Given the description of an element on the screen output the (x, y) to click on. 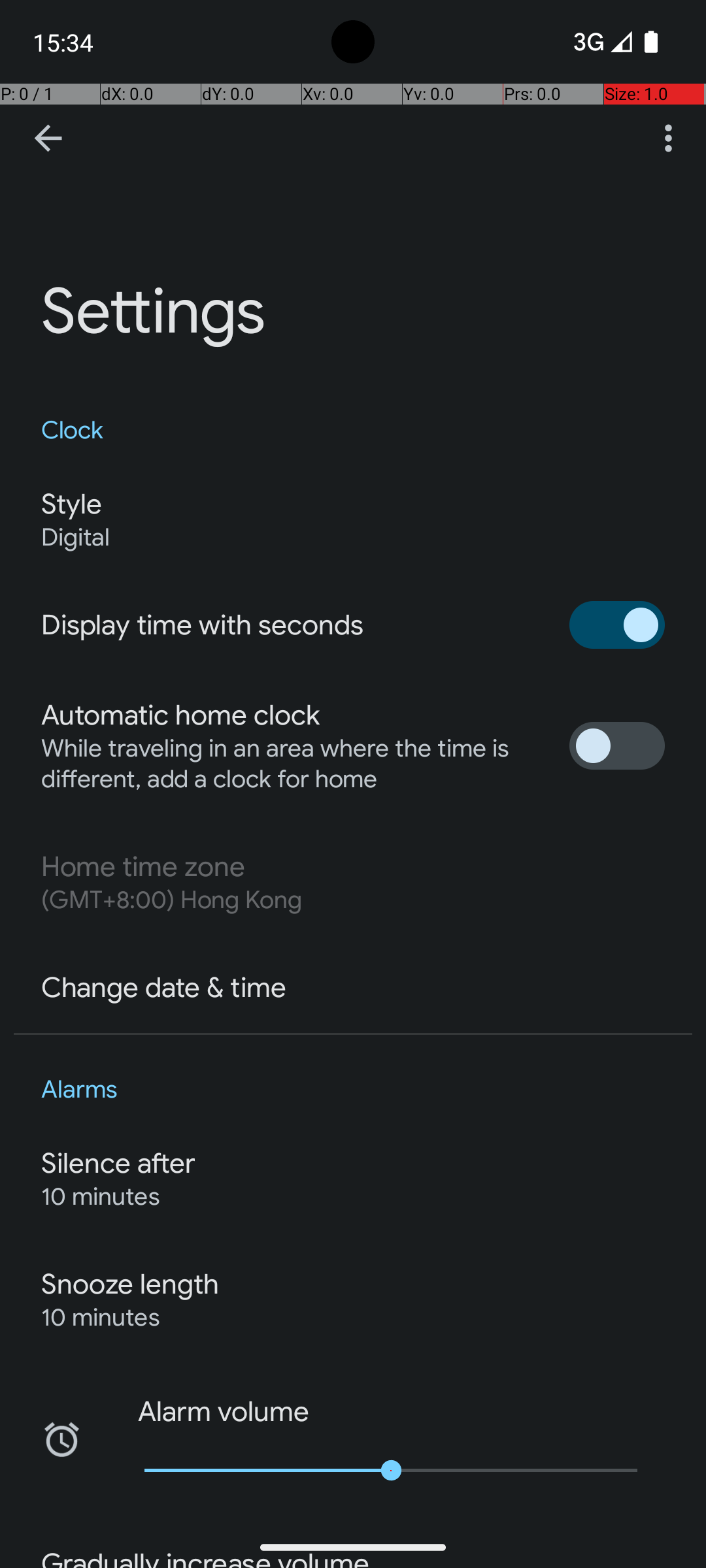
Style Element type: android.widget.TextView (71, 504)
Digital Element type: android.widget.TextView (75, 537)
Display time with seconds Element type: android.widget.TextView (202, 624)
Automatic home clock Element type: android.widget.TextView (180, 715)
While traveling in an area where the time is different, add a clock for home Element type: android.widget.TextView (291, 763)
Home time zone Element type: android.widget.TextView (143, 866)
(GMT+8:00) Hong Kong Element type: android.widget.TextView (171, 899)
Change date & time Element type: android.widget.TextView (163, 987)
Alarms Element type: android.widget.TextView (352, 1089)
Silence after Element type: android.widget.TextView (118, 1163)
10 minutes Element type: android.widget.TextView (100, 1196)
Snooze length Element type: android.widget.TextView (129, 1284)
Gradually increase volume Element type: android.widget.TextView (205, 1557)
